Given the description of an element on the screen output the (x, y) to click on. 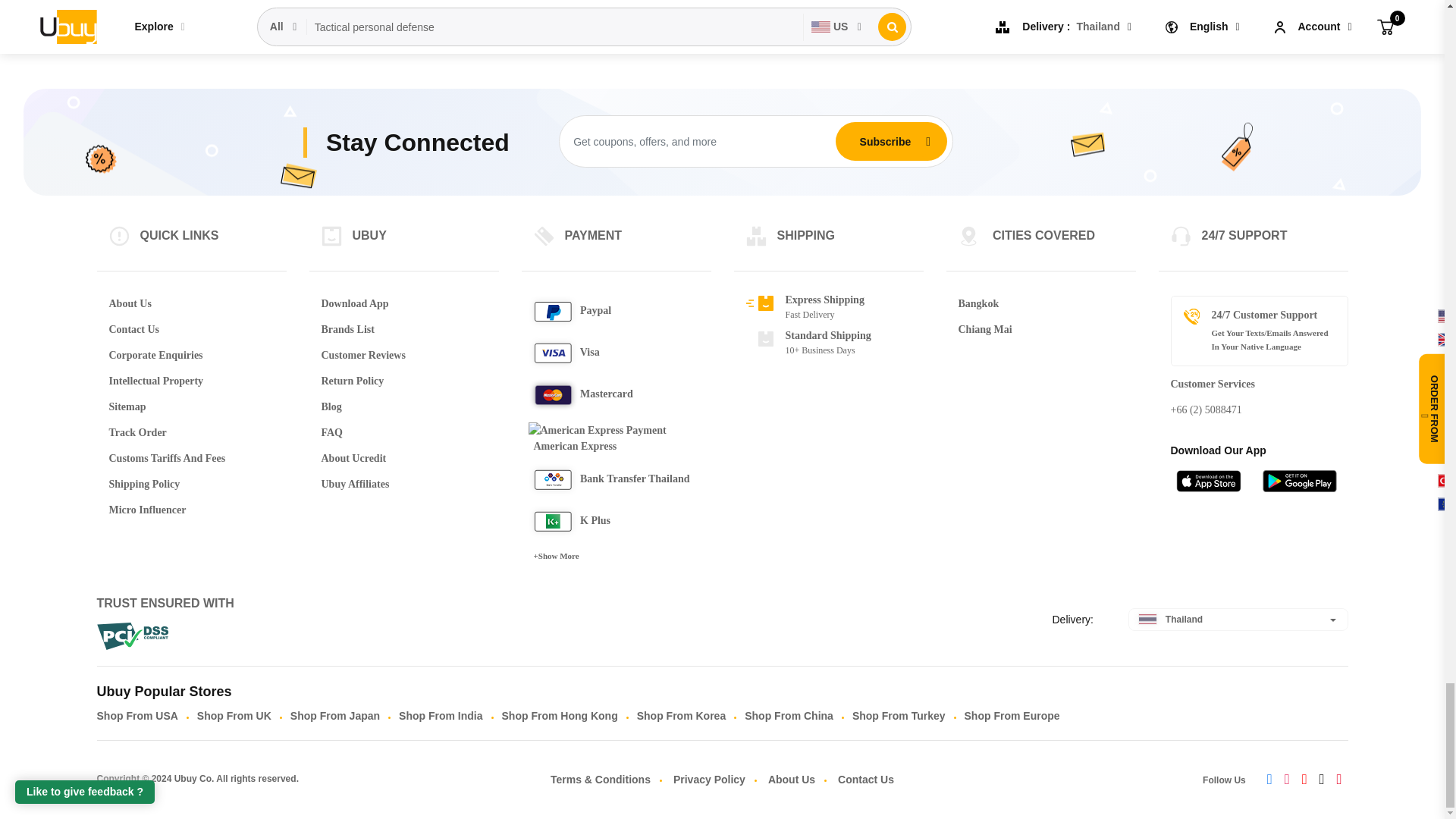
Subscribe (885, 141)
